Given the description of an element on the screen output the (x, y) to click on. 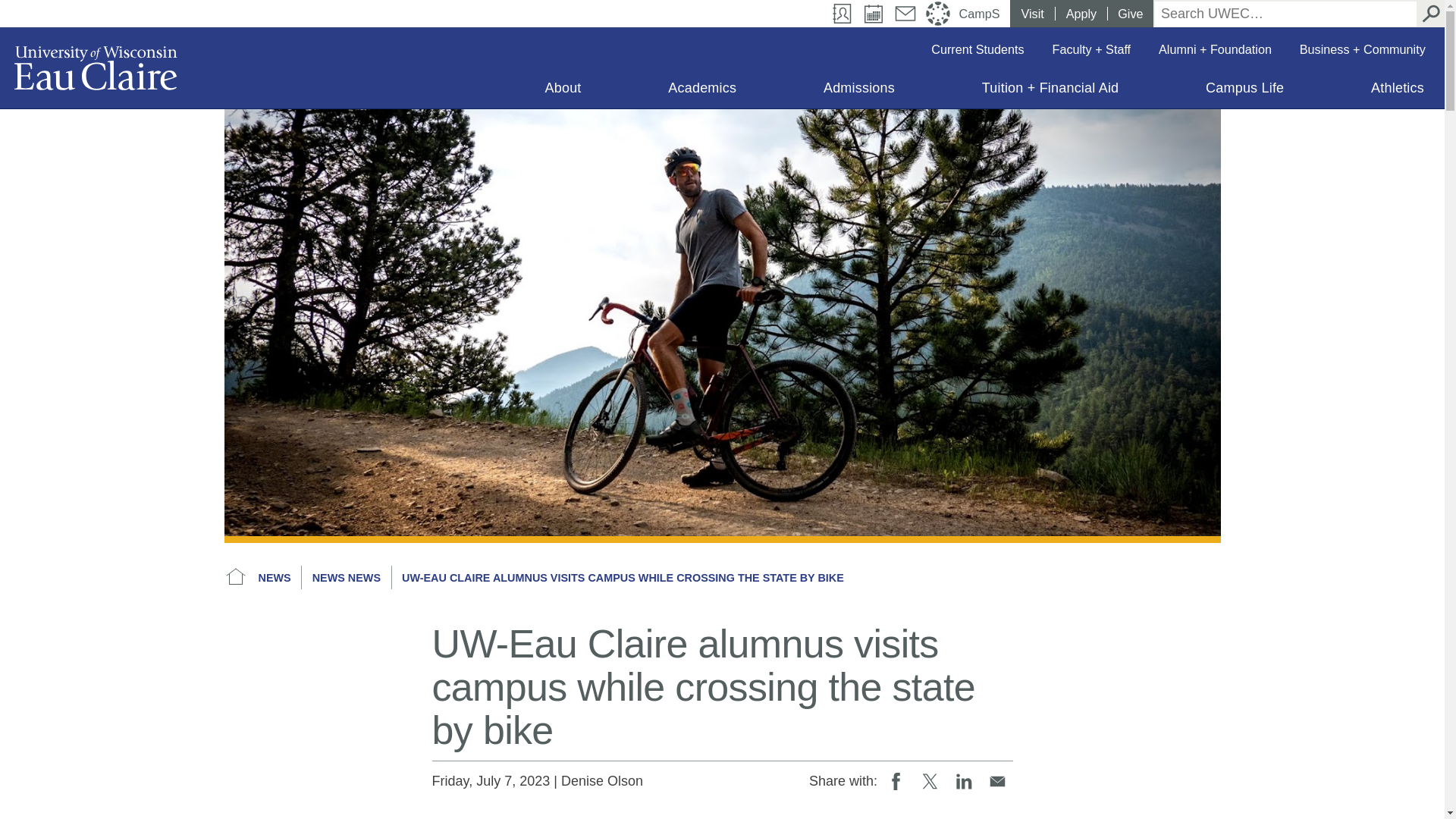
Admissions (858, 91)
Canvas (938, 13)
Give (1130, 13)
Tweet on Twitter (929, 780)
Current Students (977, 48)
Apply (1080, 13)
Canvas (938, 13)
About (562, 91)
Webmail (905, 13)
Share by Email (997, 780)
University of Wisconsin-Eau Claire (95, 67)
CampS (981, 13)
Directory (843, 13)
Visit (1032, 13)
